Given the description of an element on the screen output the (x, y) to click on. 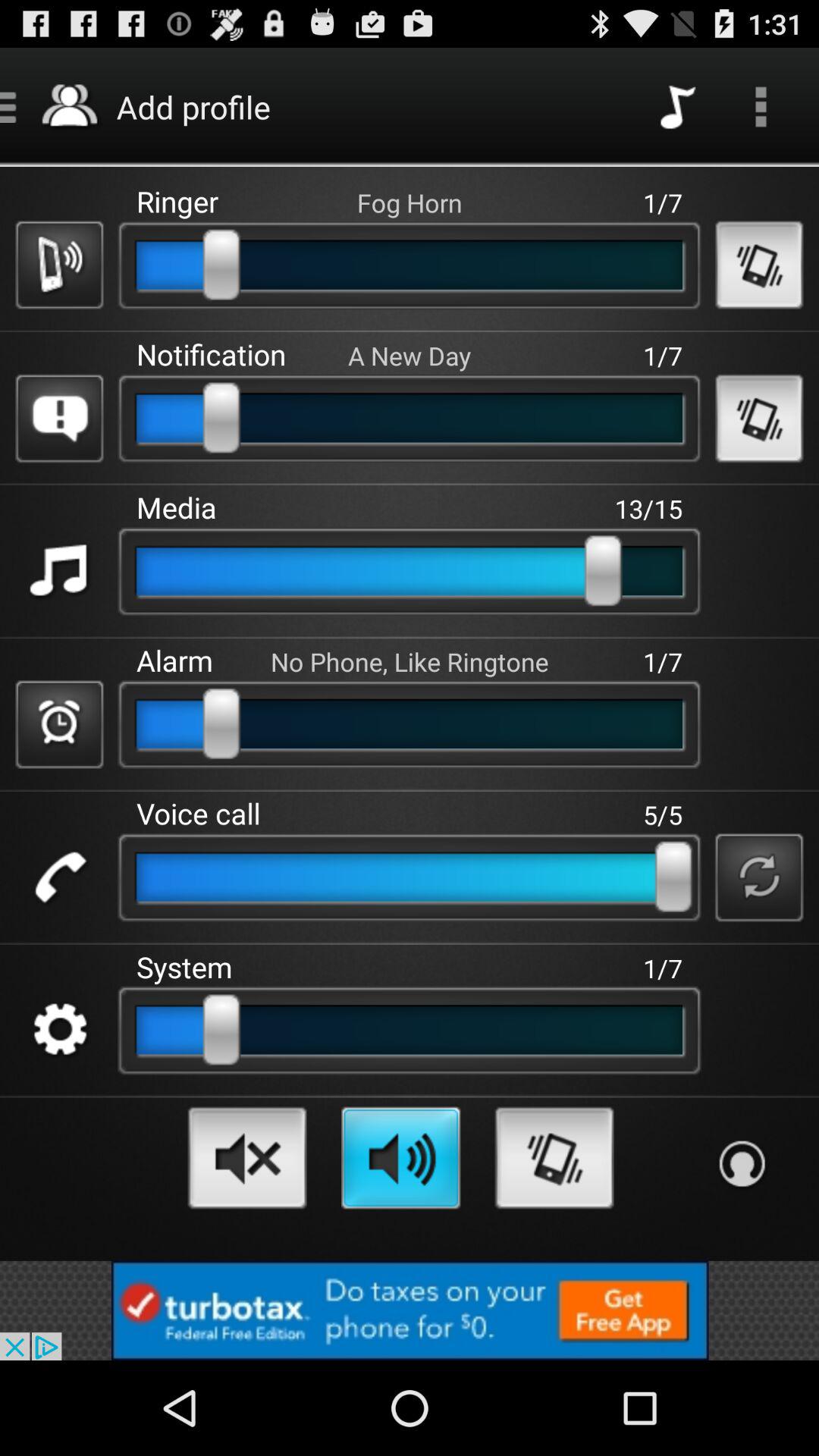
go to sound decrease (247, 1157)
